Given the description of an element on the screen output the (x, y) to click on. 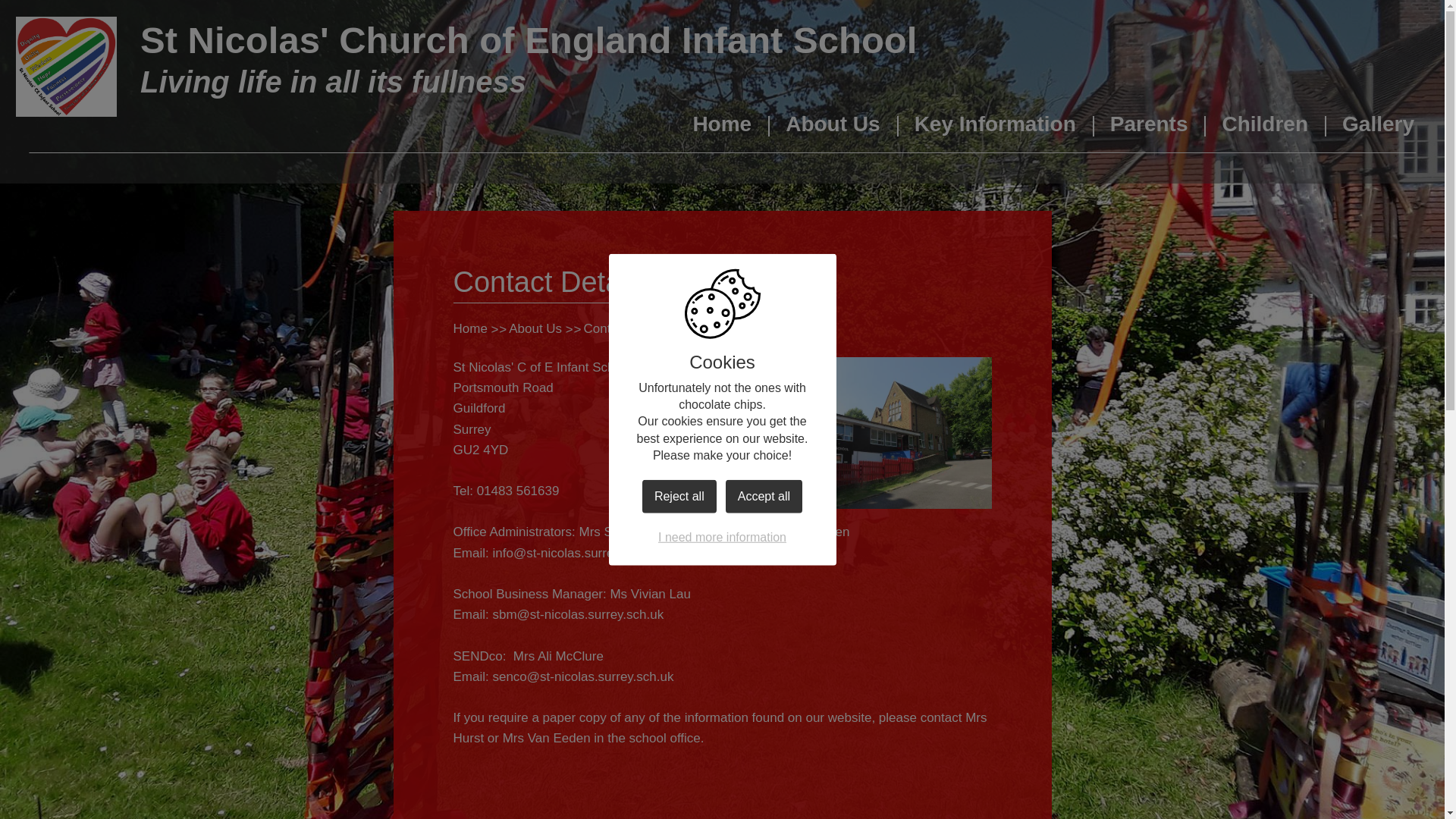
Home Page (66, 66)
Home Page (66, 66)
Home (722, 128)
Key Information (994, 128)
About Us (832, 128)
